Given the description of an element on the screen output the (x, y) to click on. 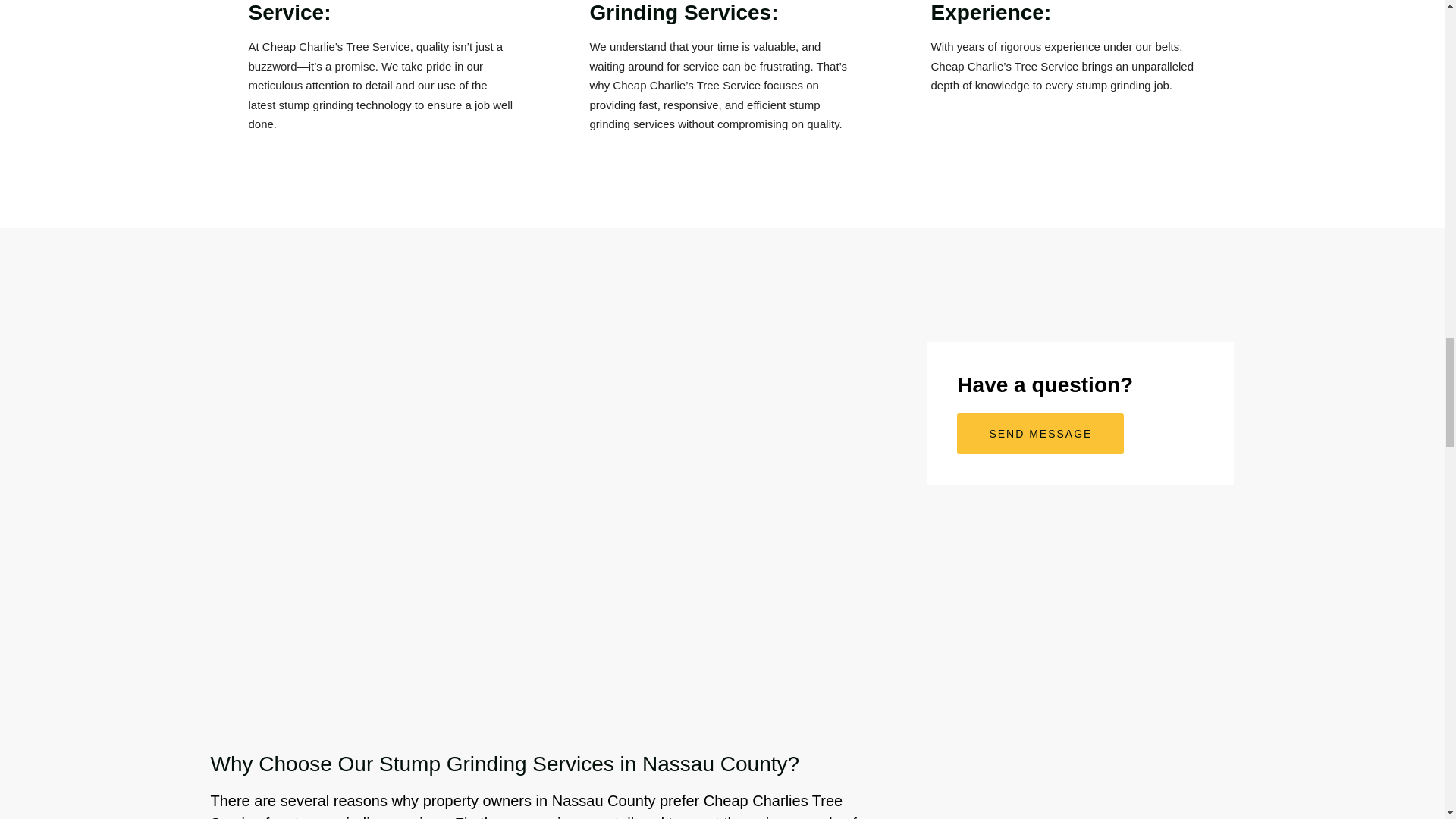
SEND MESSAGE (1040, 433)
